Given the description of an element on the screen output the (x, y) to click on. 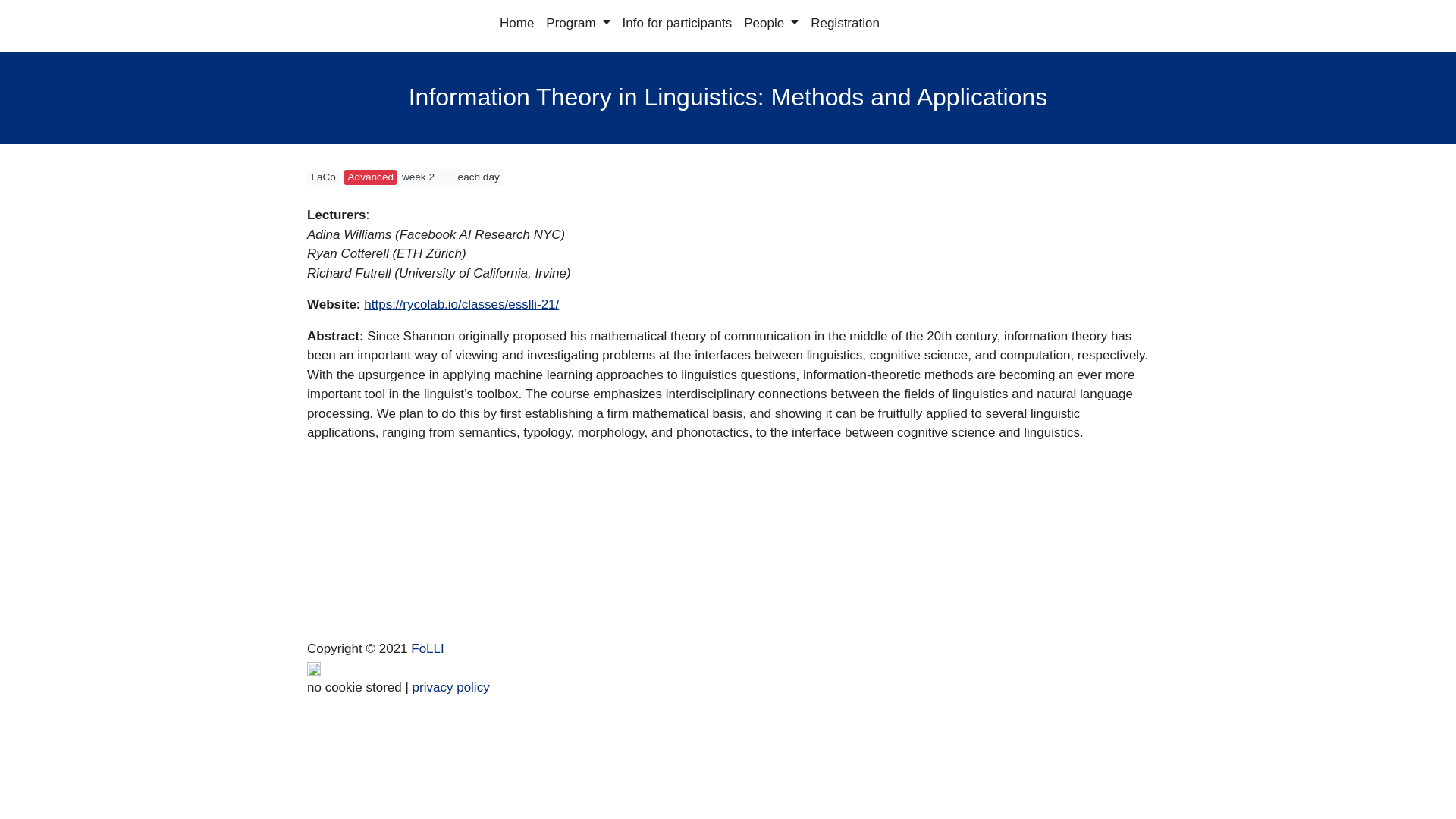
Registration (845, 20)
FoLLI (431, 648)
Program (577, 20)
People (771, 20)
FoLLI (431, 648)
Info for participants (676, 20)
website (466, 304)
privacy policy (450, 686)
Home (516, 20)
